Given the description of an element on the screen output the (x, y) to click on. 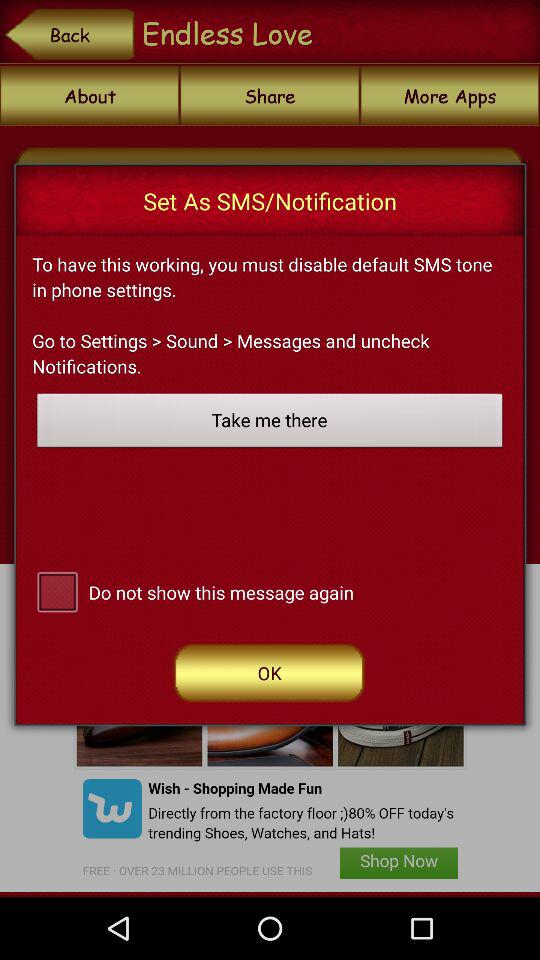
switch do not show message again option (57, 590)
